Given the description of an element on the screen output the (x, y) to click on. 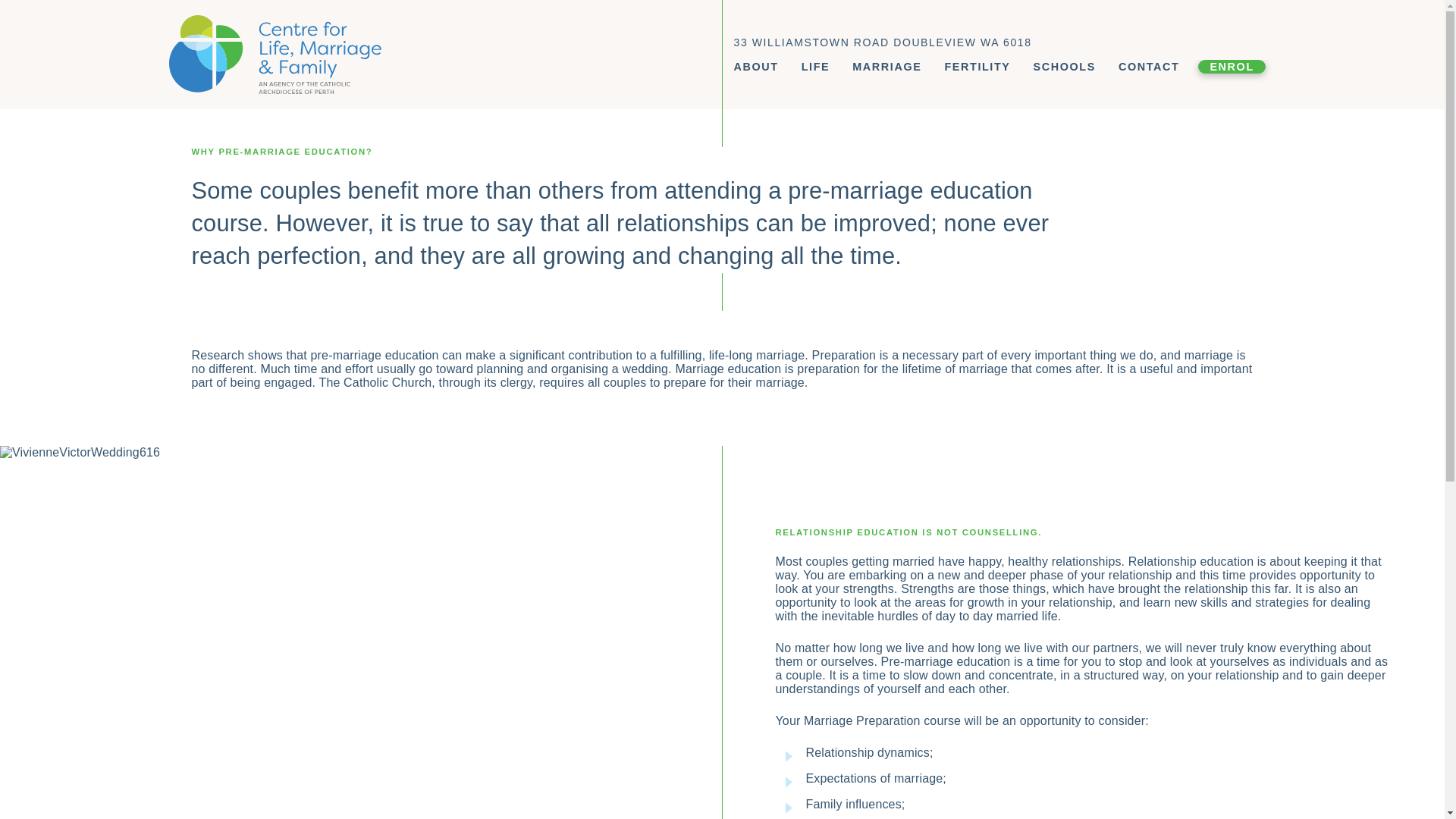
Centre for Life, Marriage & Family Element type: hover (444, 54)
ABOUT Element type: text (756, 66)
MARRIAGE Element type: text (886, 66)
ENROL Element type: text (1231, 66)
FERTILITY Element type: text (977, 66)
LIFE Element type: text (815, 66)
CONTACT Element type: text (1148, 66)
SCHOOLS Element type: text (1064, 66)
